Given the description of an element on the screen output the (x, y) to click on. 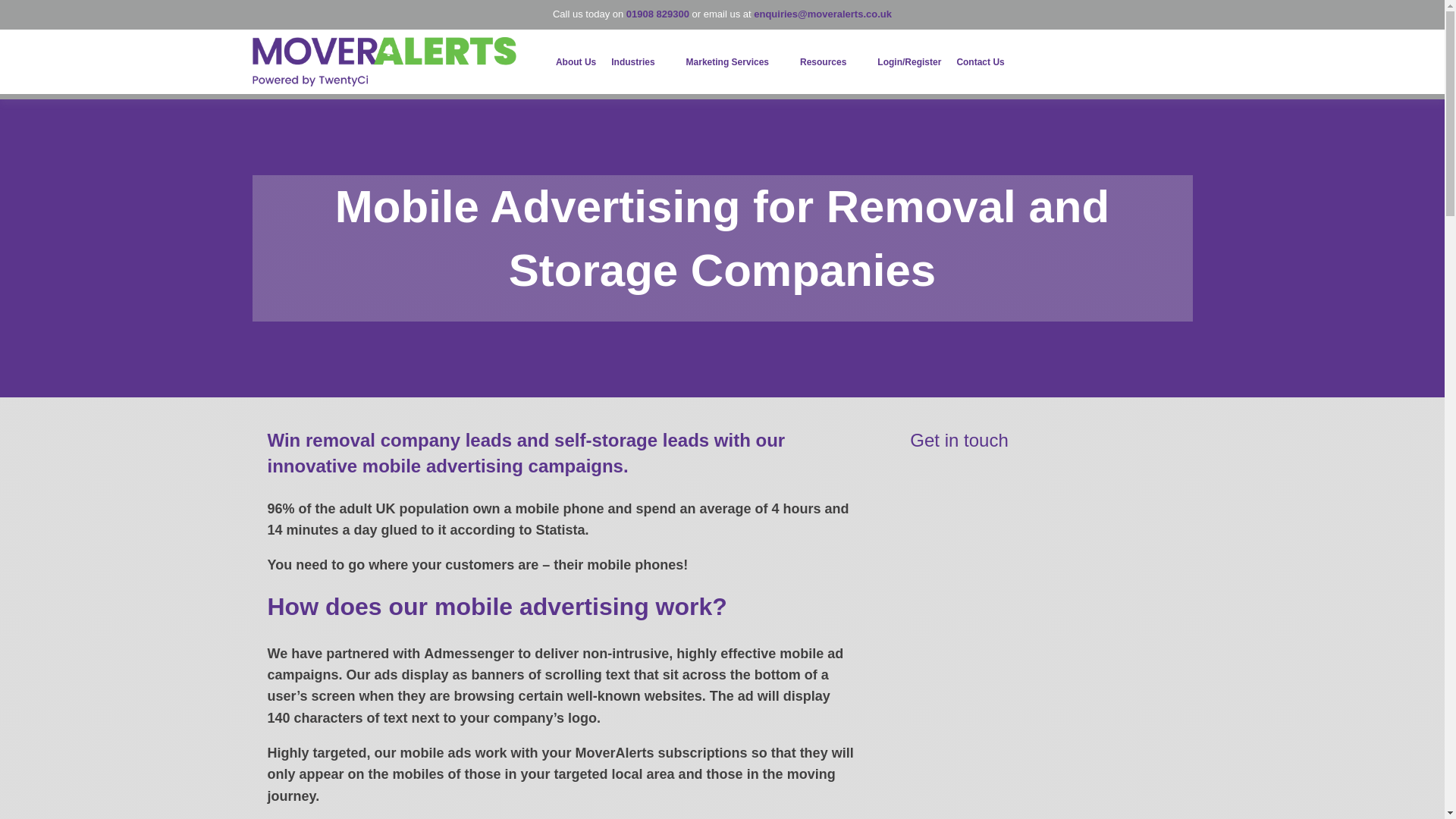
About Us (575, 61)
01908 829300 (657, 13)
Marketing Services (734, 61)
Statista (560, 529)
Contact Us (980, 61)
Industries (640, 61)
Admessenger (468, 653)
Resources (830, 61)
MoverAlerts subscriptions (661, 752)
